Given the description of an element on the screen output the (x, y) to click on. 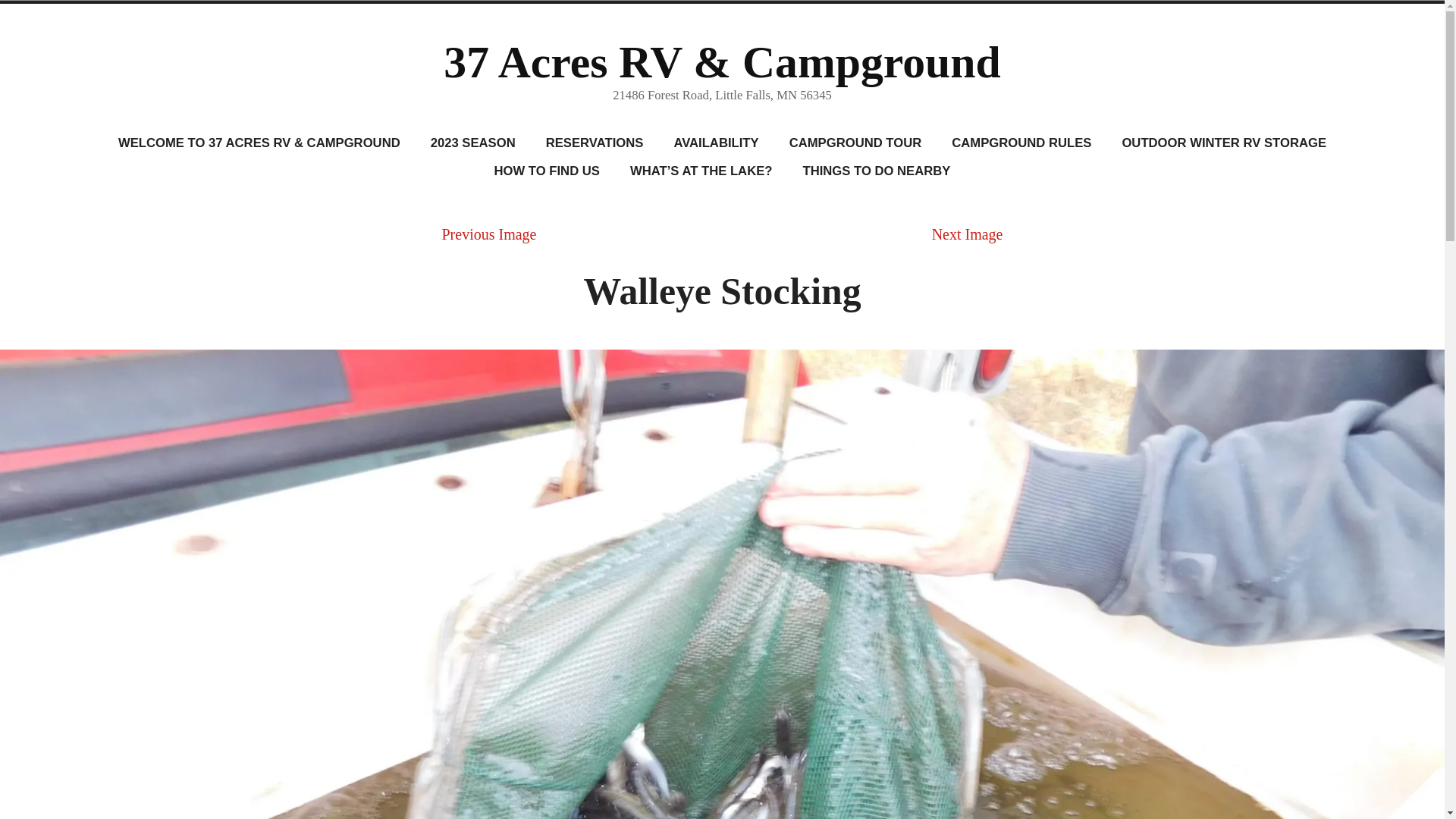
HOW TO FIND US Element type: text (546, 171)
WELCOME TO 37 ACRES RV & CAMPGROUND Element type: text (259, 143)
Next Image Element type: text (967, 233)
CAMPGROUND RULES Element type: text (1021, 143)
Previous Image Element type: text (488, 233)
2023 SEASON Element type: text (472, 143)
RESERVATIONS Element type: text (594, 143)
CAMPGROUND TOUR Element type: text (855, 143)
37 Acres RV & Campground Element type: text (721, 62)
OUTDOOR WINTER RV STORAGE Element type: text (1223, 143)
AVAILABILITY Element type: text (715, 143)
THINGS TO DO NEARBY Element type: text (876, 171)
